Given the description of an element on the screen output the (x, y) to click on. 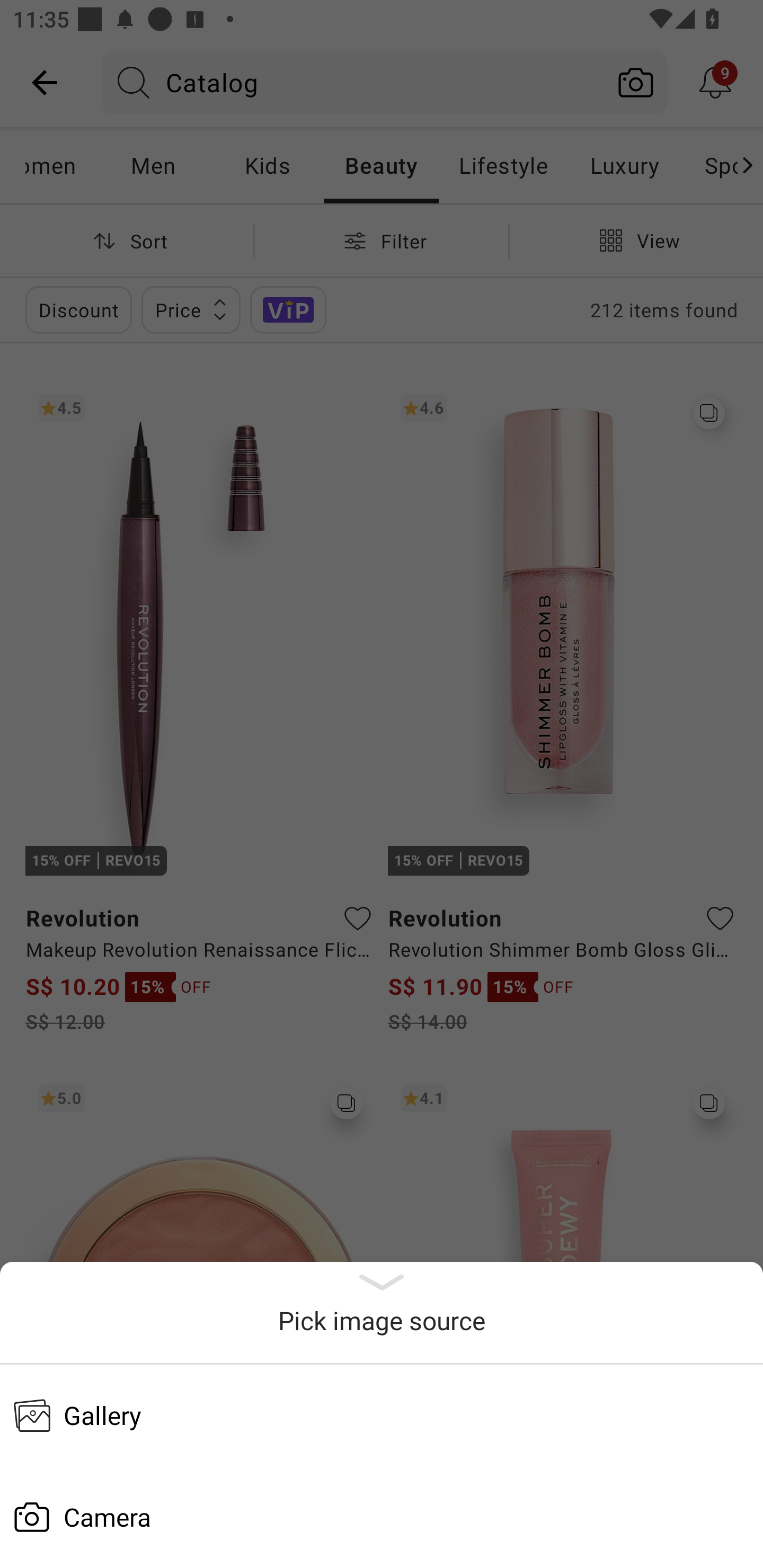
Gallery (381, 1415)
Camera (381, 1517)
